Given the description of an element on the screen output the (x, y) to click on. 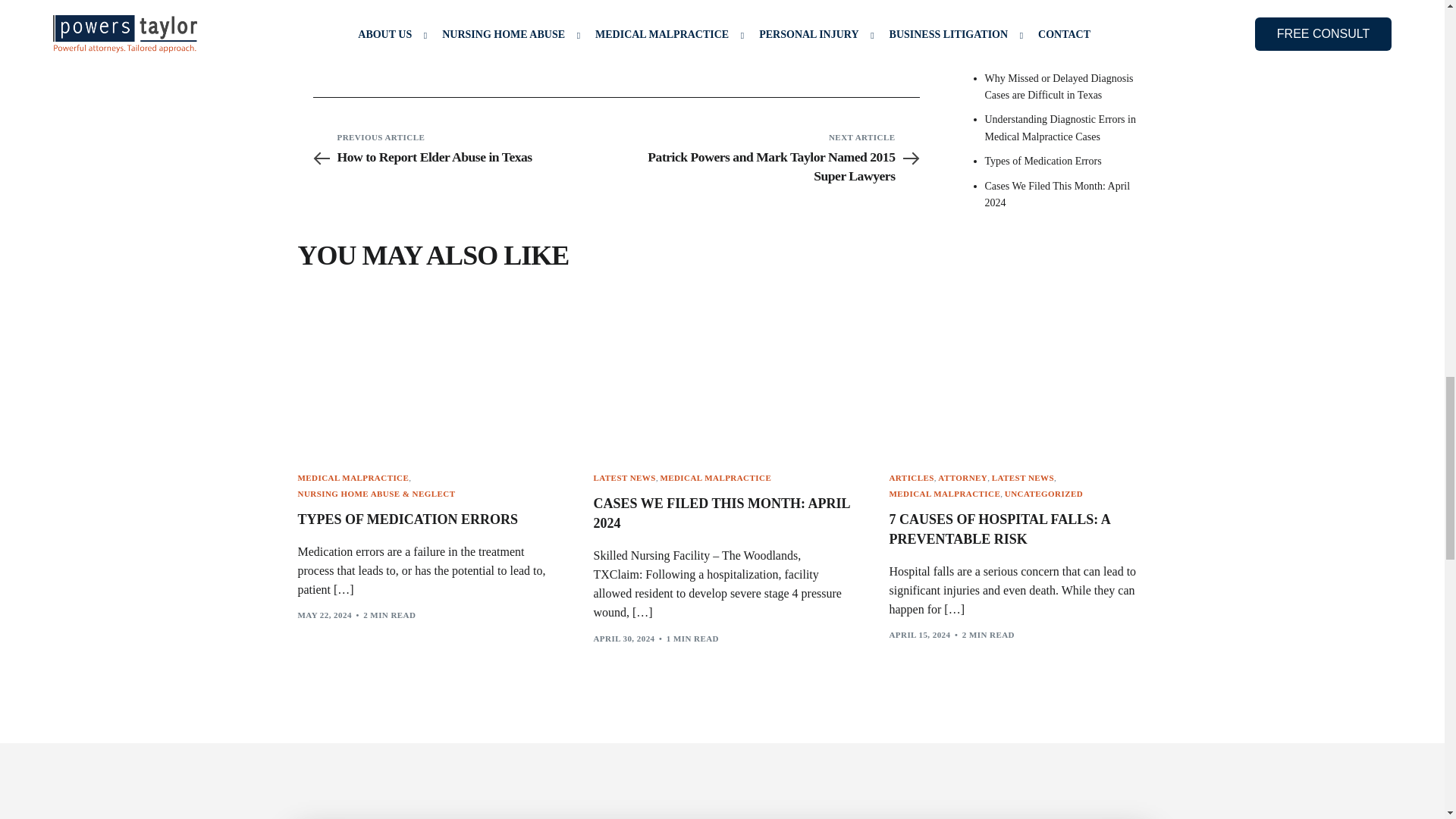
View Post: Types of Medication Errors  (425, 519)
 View Post: Types of Medication Errors (425, 372)
View Latest News posts (623, 478)
View Medical Malpractice posts (715, 478)
View Medical Malpractice posts (353, 478)
Patrick Powers and Mark Taylor Named 2015 Super Lawyers (767, 166)
 View Post: 7 Causes of Hospital Falls: A Preventable Risk (1017, 372)
View Medical Malpractice posts (944, 493)
 View Post: Cases We Filed This Month: April 2024 (721, 372)
How to Report Elder Abuse in Texas (463, 157)
View Attorney posts (962, 478)
View Latest News posts (1022, 478)
View Articles posts (910, 478)
View Post: Cases We Filed This Month: April 2024  (721, 513)
